Given the description of an element on the screen output the (x, y) to click on. 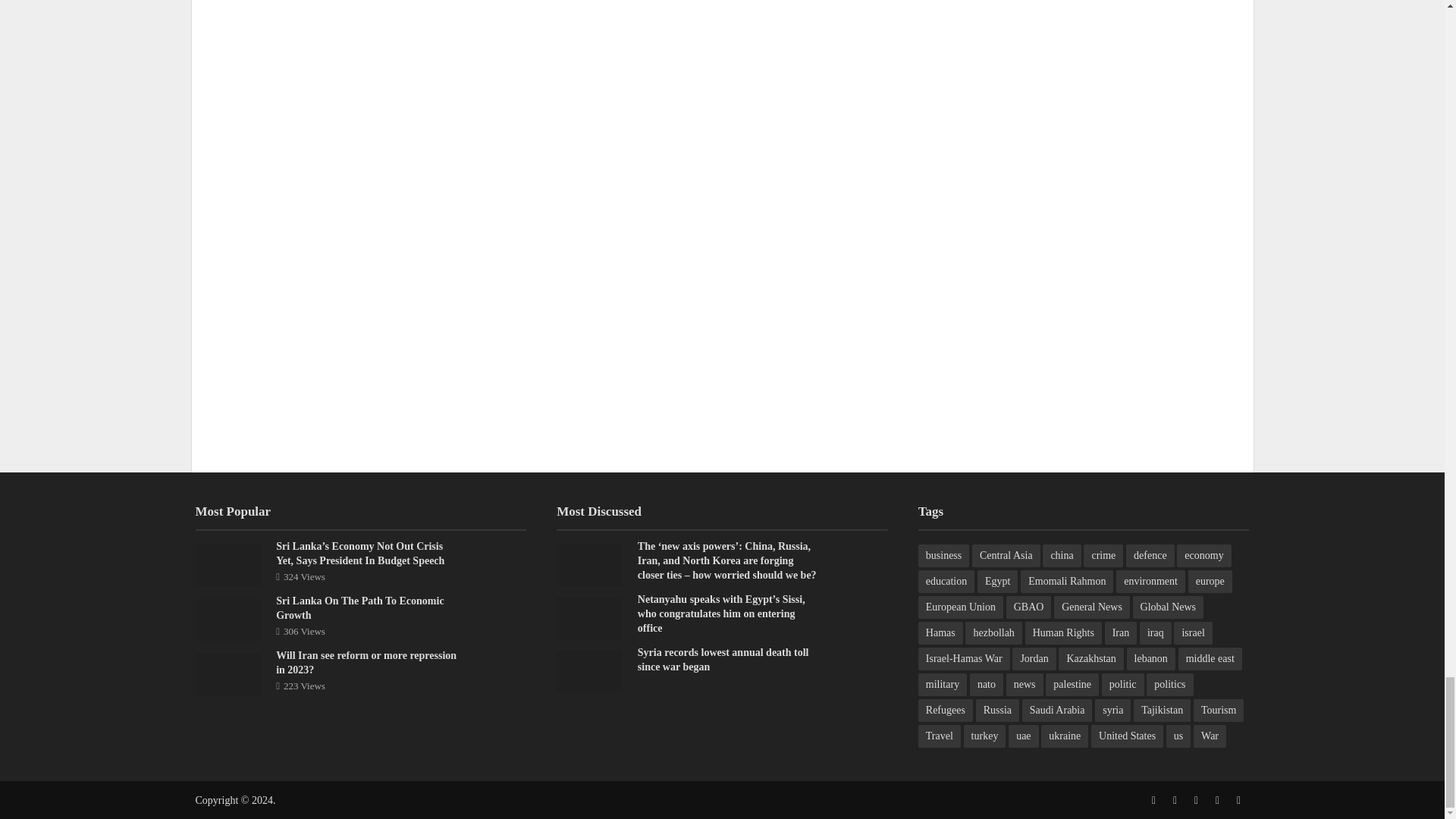
Sri Lanka On The Path To Economic Growth (228, 618)
Will Iran see reform or more repression in 2023? (228, 673)
